Given the description of an element on the screen output the (x, y) to click on. 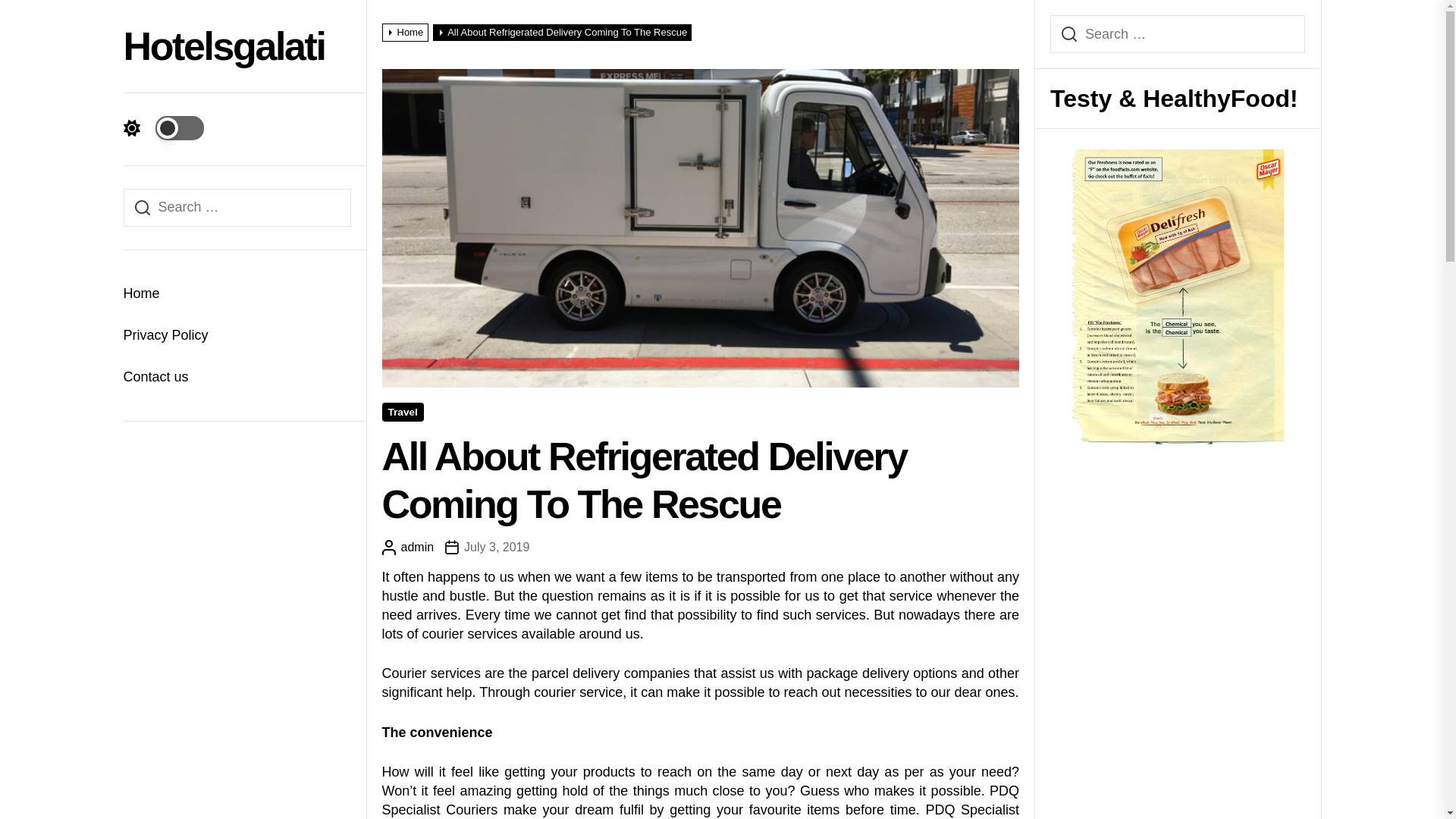
All About Refrigerated Delivery Coming To The Rescue (563, 31)
Privacy Policy (236, 335)
Travel (402, 411)
admin (407, 547)
July 3, 2019 (487, 547)
Contact us (236, 377)
Home (406, 31)
Hotelsgalati (223, 45)
Home (236, 293)
